Given the description of an element on the screen output the (x, y) to click on. 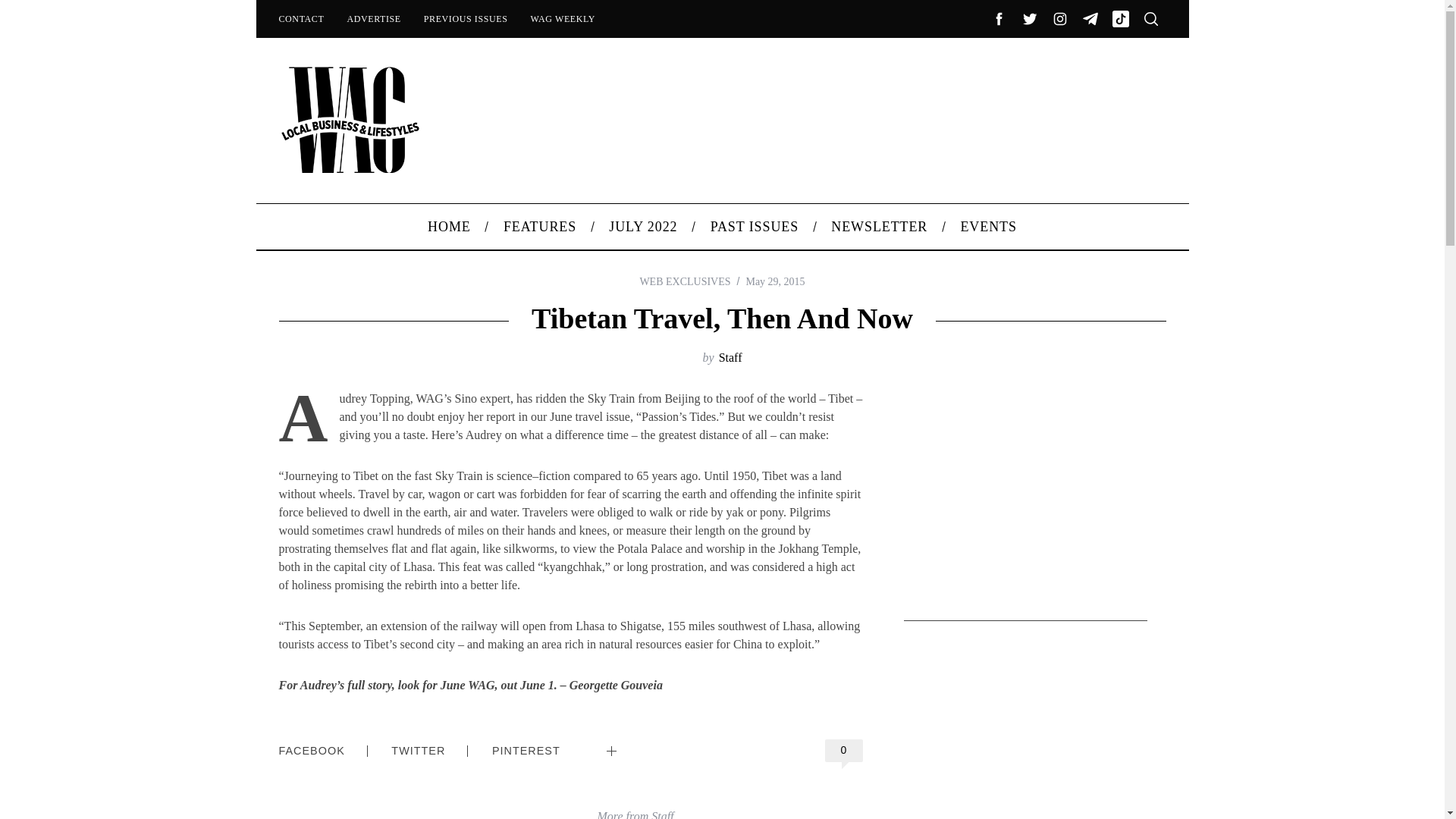
HOME (449, 226)
WAG WEEKLY (562, 18)
FEATURES (539, 226)
ADVERTISE (373, 18)
CONTACT (300, 18)
PREVIOUS ISSUES (465, 18)
PAST ISSUES (754, 226)
JULY 2022 (643, 226)
